Given the description of an element on the screen output the (x, y) to click on. 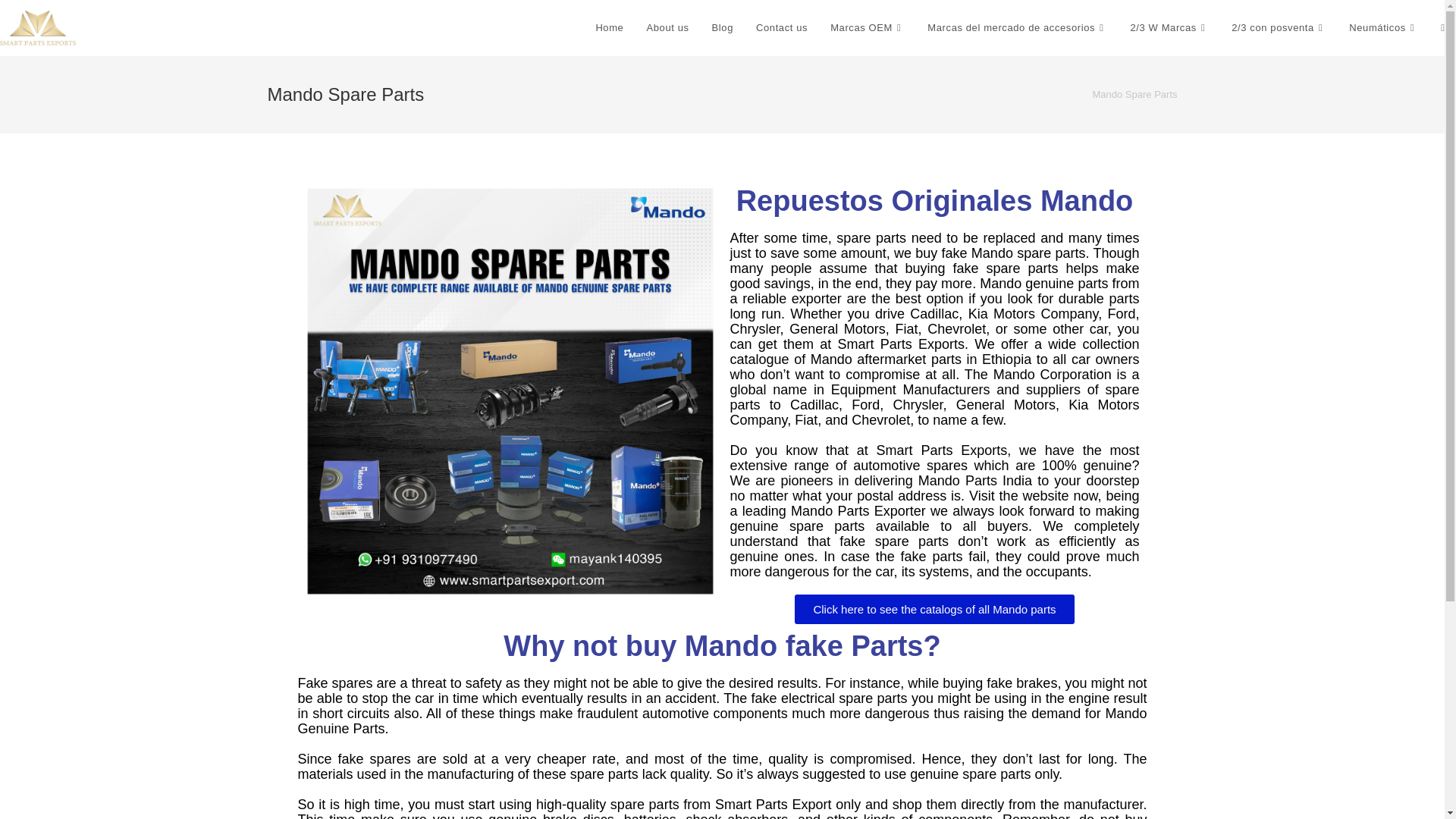
Contact us (781, 28)
Marcas OEM (866, 28)
About us (667, 28)
Home (608, 28)
Marcas del mercado de accesorios (1016, 28)
